Given the description of an element on the screen output the (x, y) to click on. 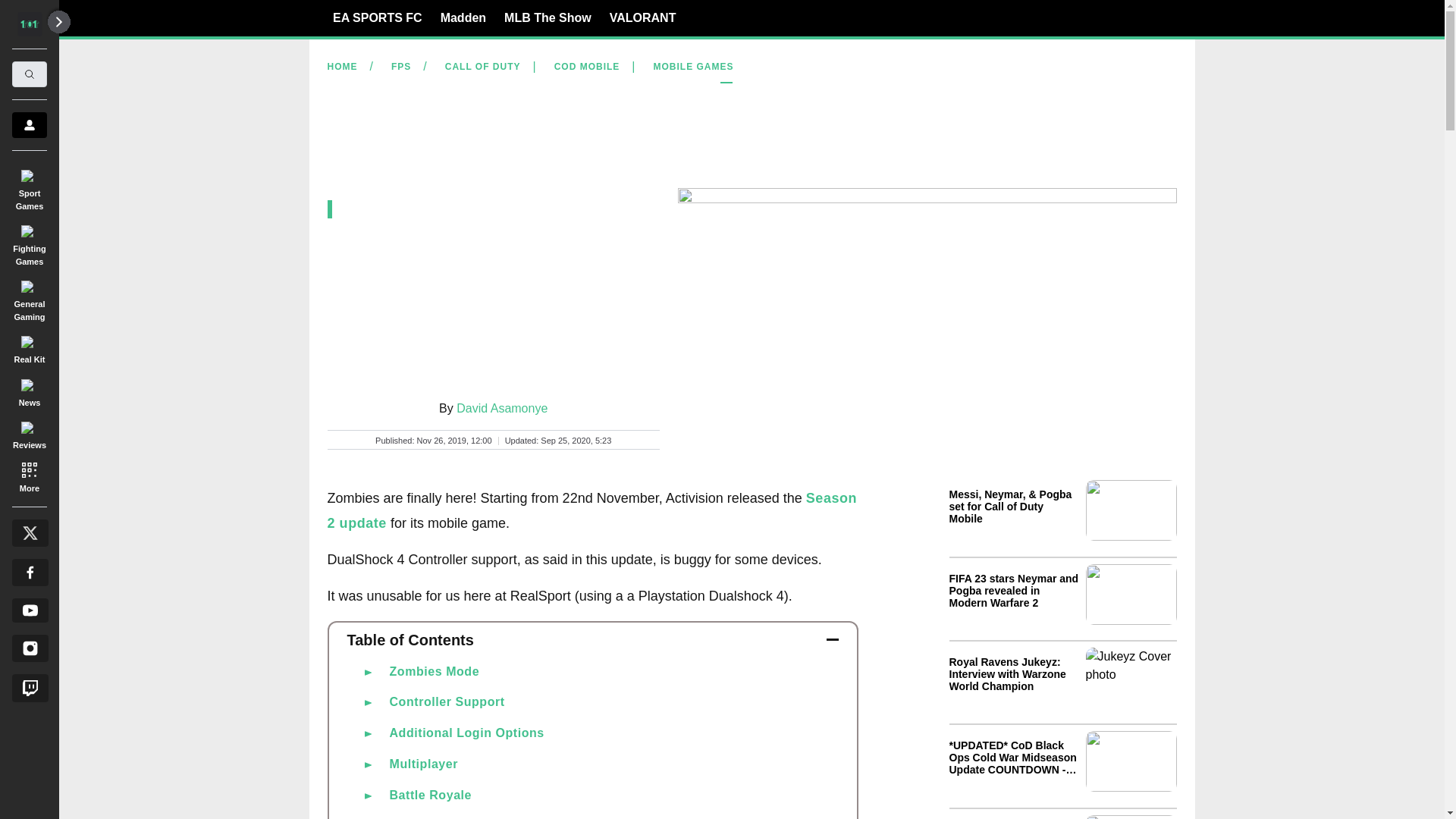
Madden (463, 18)
Real Kit (28, 347)
EA SPORTS FC (377, 18)
MLB The Show (547, 18)
Reviews (28, 433)
News (28, 389)
More (28, 476)
VALORANT (643, 18)
